Given the description of an element on the screen output the (x, y) to click on. 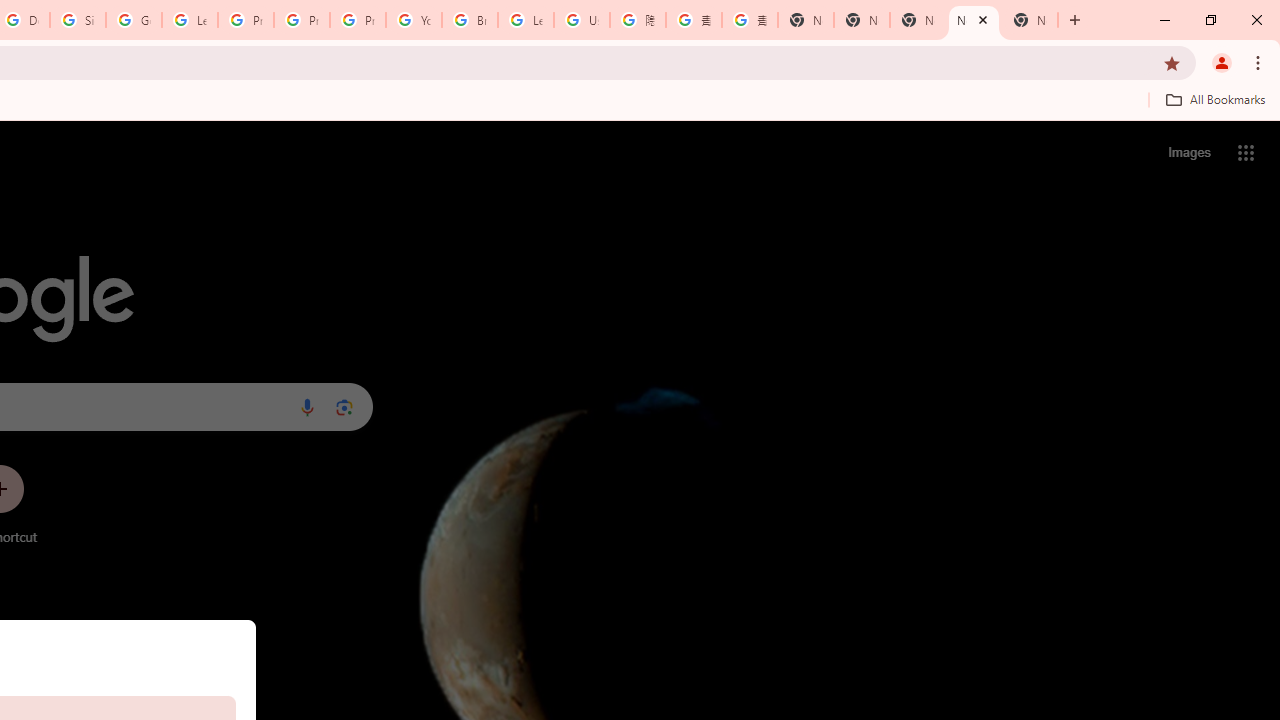
New Tab (806, 20)
Privacy Help Center - Policies Help (245, 20)
YouTube (413, 20)
New Tab (1030, 20)
